Given the description of an element on the screen output the (x, y) to click on. 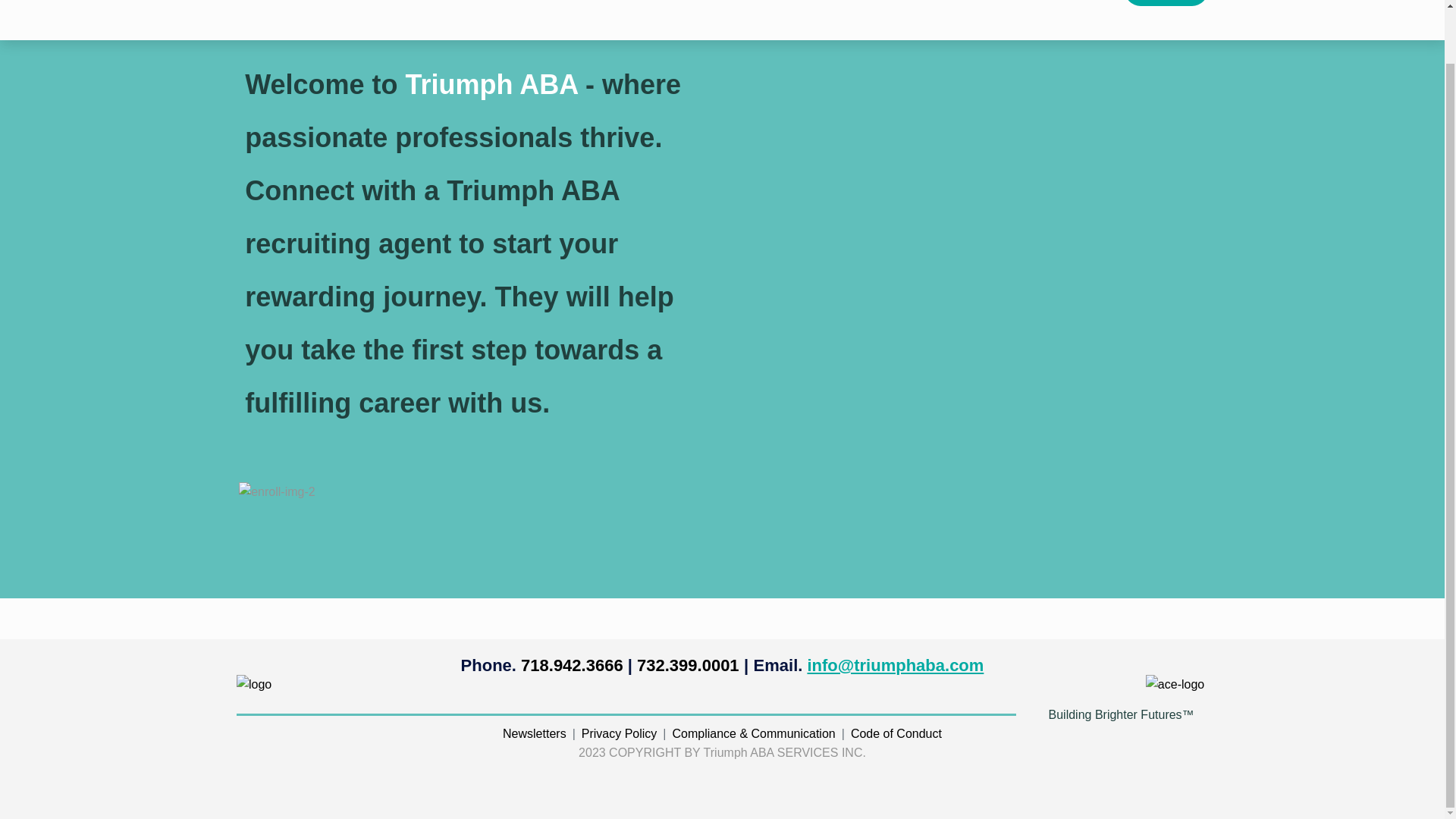
732.399.0001 (688, 665)
Code of Conduct (896, 732)
718.942.3666 (572, 665)
Login (1166, 2)
Privacy Policy (619, 732)
Newsletters (534, 732)
